Given the description of an element on the screen output the (x, y) to click on. 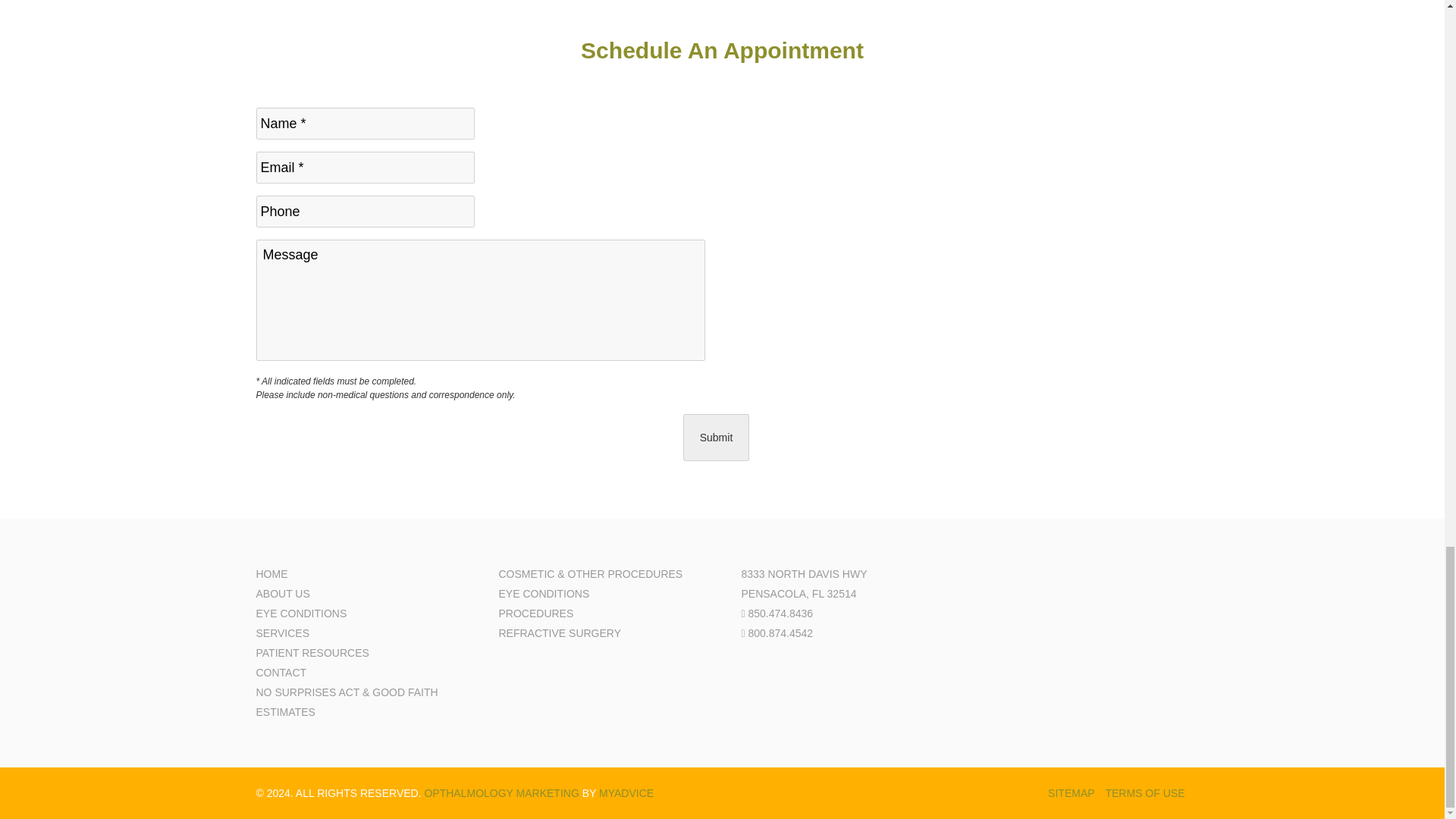
Submit (715, 437)
